Given the description of an element on the screen output the (x, y) to click on. 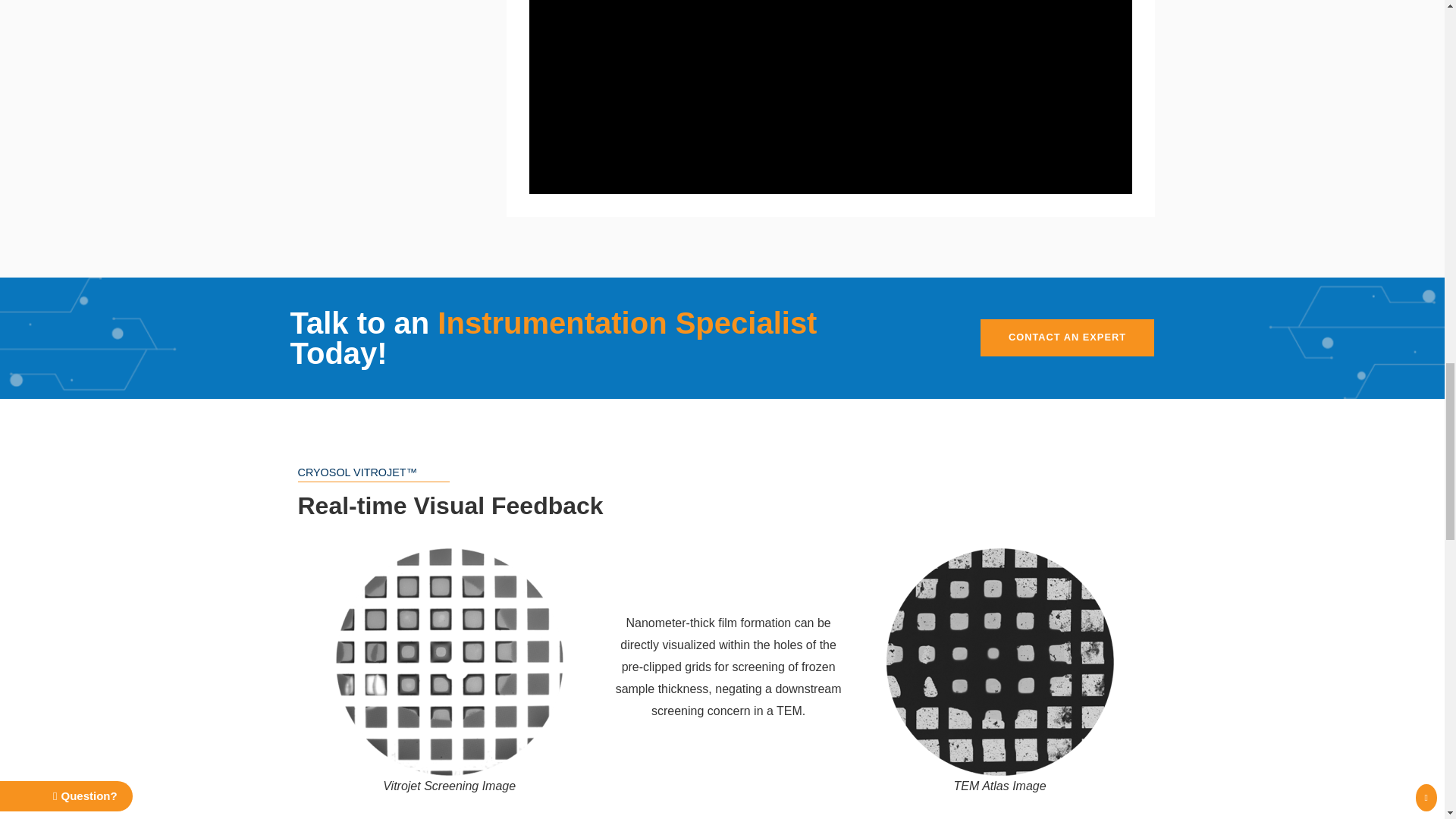
vimeo Video Player (830, 97)
